Given the description of an element on the screen output the (x, y) to click on. 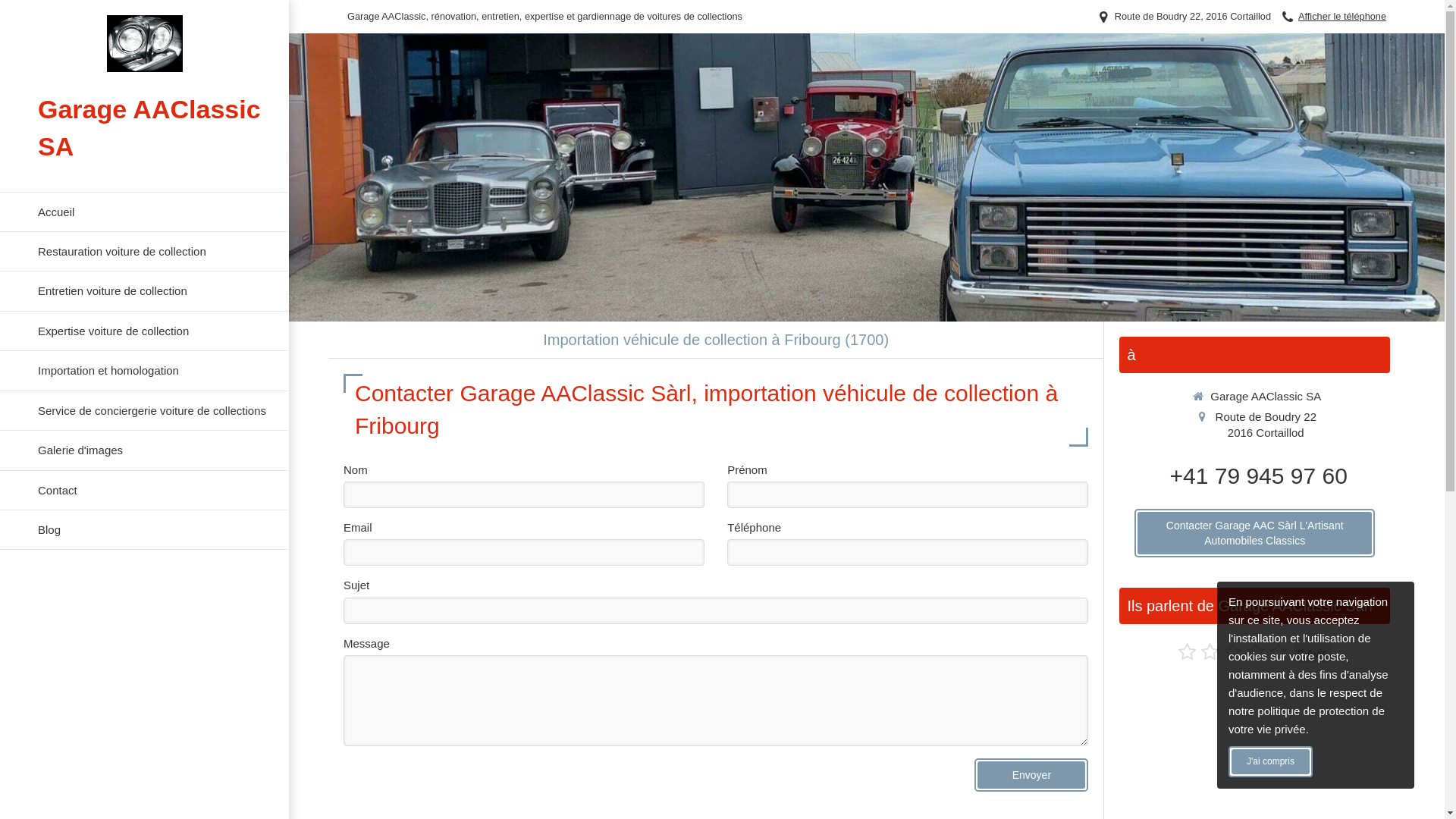
Envoyer Element type: text (1031, 774)
J'ai compris Element type: text (1270, 761)
Importation et homologation Element type: text (144, 370)
Expertise voiture de collection Element type: text (144, 331)
Garage AAClassic SA Element type: hover (144, 67)
Galerie d'images Element type: text (144, 450)
+41 79 945 97 60 Element type: text (1257, 475)
Garage AAClassic SA Element type: hover (144, 43)
Accueil Element type: text (144, 211)
Entretien voiture de collection Element type: text (144, 290)
Contact Element type: text (144, 489)
Service de conciergerie voiture de collections Element type: text (144, 410)
Restauration voiture de collection Element type: text (144, 251)
Blog Element type: text (144, 529)
